Given the description of an element on the screen output the (x, y) to click on. 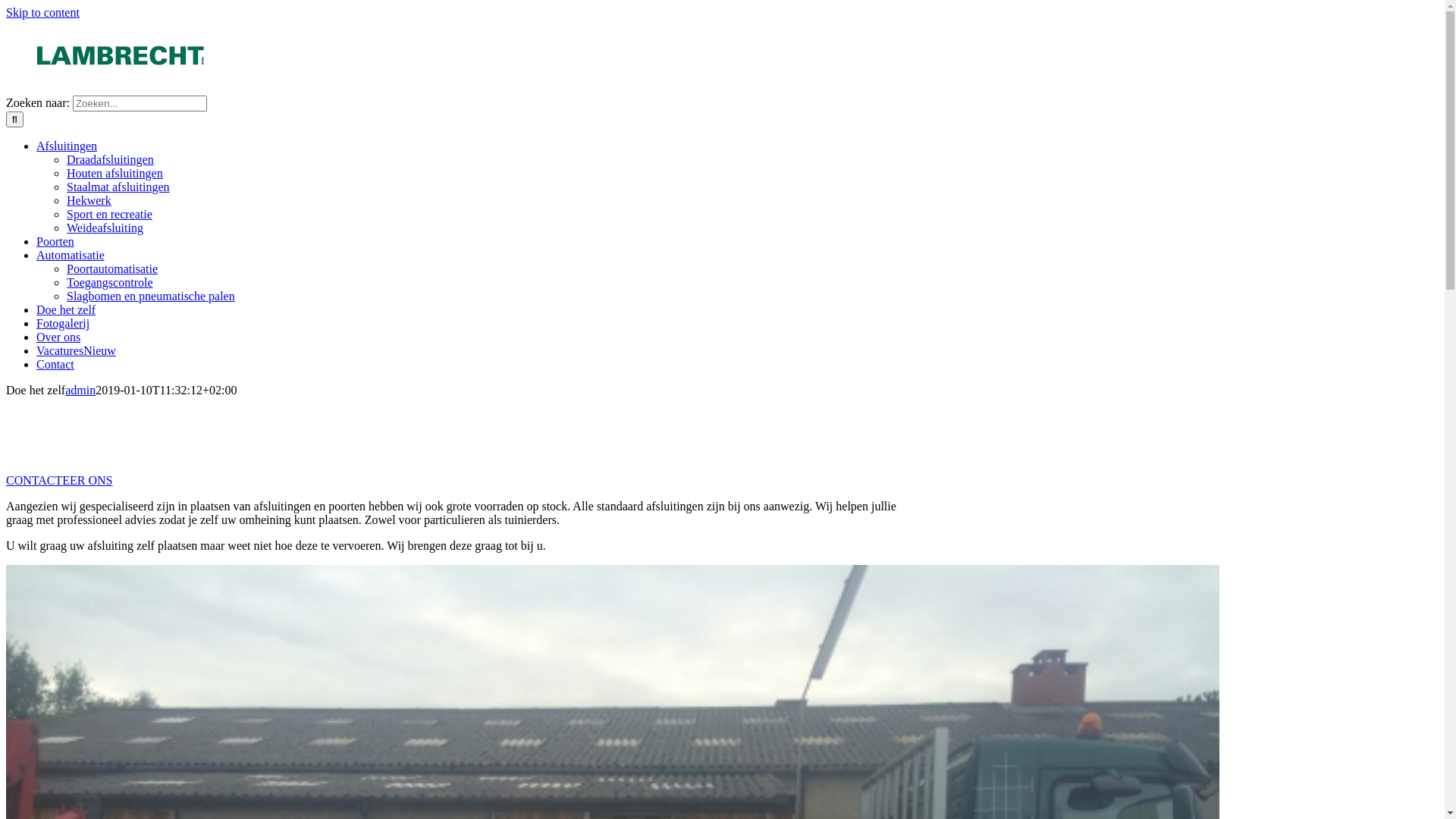
admin Element type: text (80, 389)
VacaturesNieuw Element type: text (76, 350)
Hekwerk Element type: text (88, 200)
Poortautomatisatie Element type: text (111, 268)
Staalmat afsluitingen Element type: text (117, 186)
Toegangscontrole Element type: text (109, 282)
Slagbomen en pneumatische palen Element type: text (150, 295)
Afsluitingen Element type: text (66, 145)
Contact Element type: text (55, 363)
Weideafsluiting Element type: text (104, 227)
Poorten Element type: text (55, 241)
Automatisatie Element type: text (70, 254)
Sport en recreatie Element type: text (109, 213)
Over ons Element type: text (58, 336)
Houten afsluitingen Element type: text (114, 172)
Doe het zelf Element type: text (65, 309)
Skip to content Element type: text (42, 12)
Draadafsluitingen Element type: text (109, 159)
CONTACTEER ONS Element type: text (59, 479)
Fotogalerij Element type: text (62, 322)
